Given the description of an element on the screen output the (x, y) to click on. 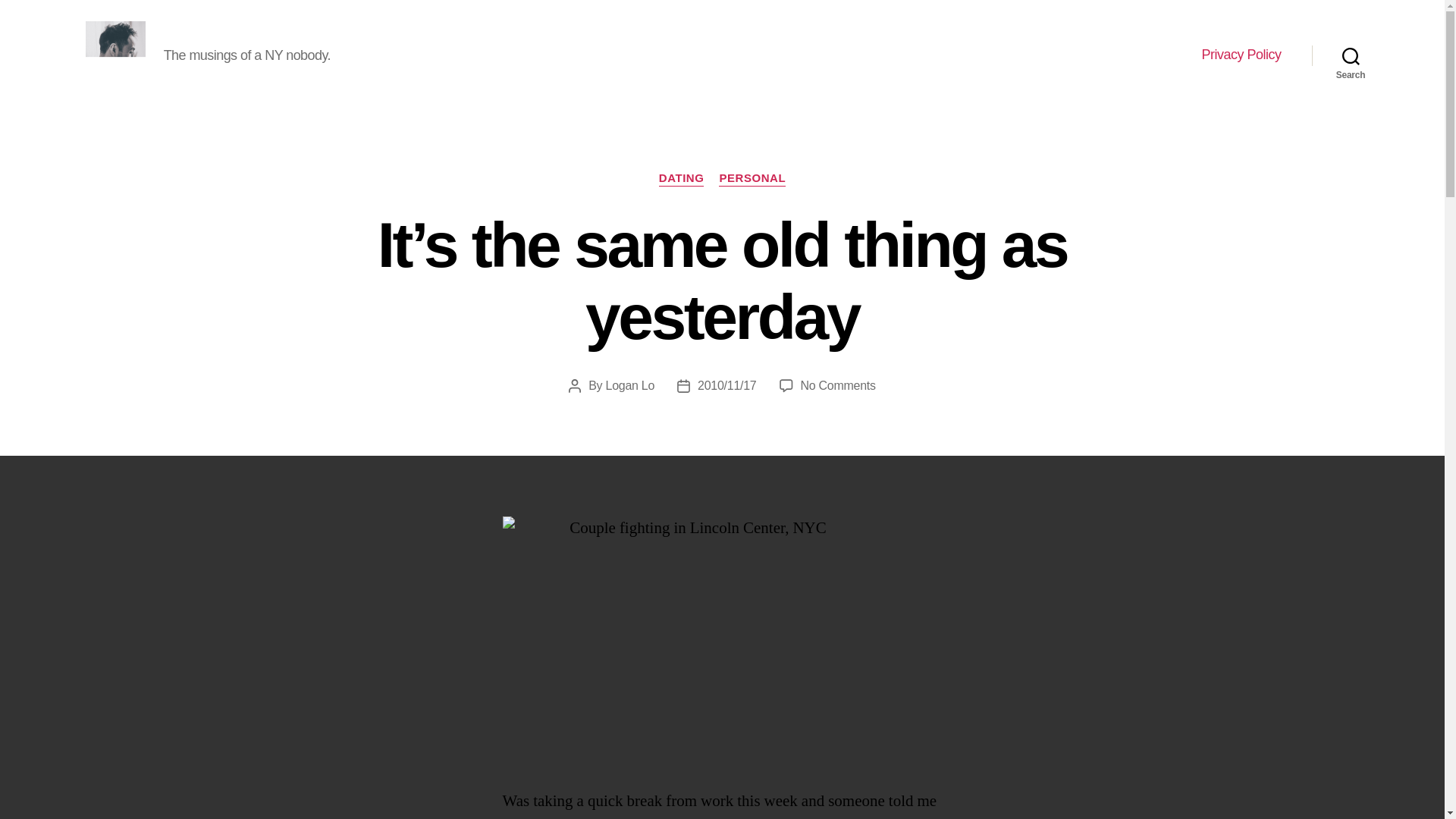
Privacy Policy (1241, 54)
PERSONAL (752, 178)
Search (1350, 55)
DATING (681, 178)
Logan Lo (630, 385)
